Given the description of an element on the screen output the (x, y) to click on. 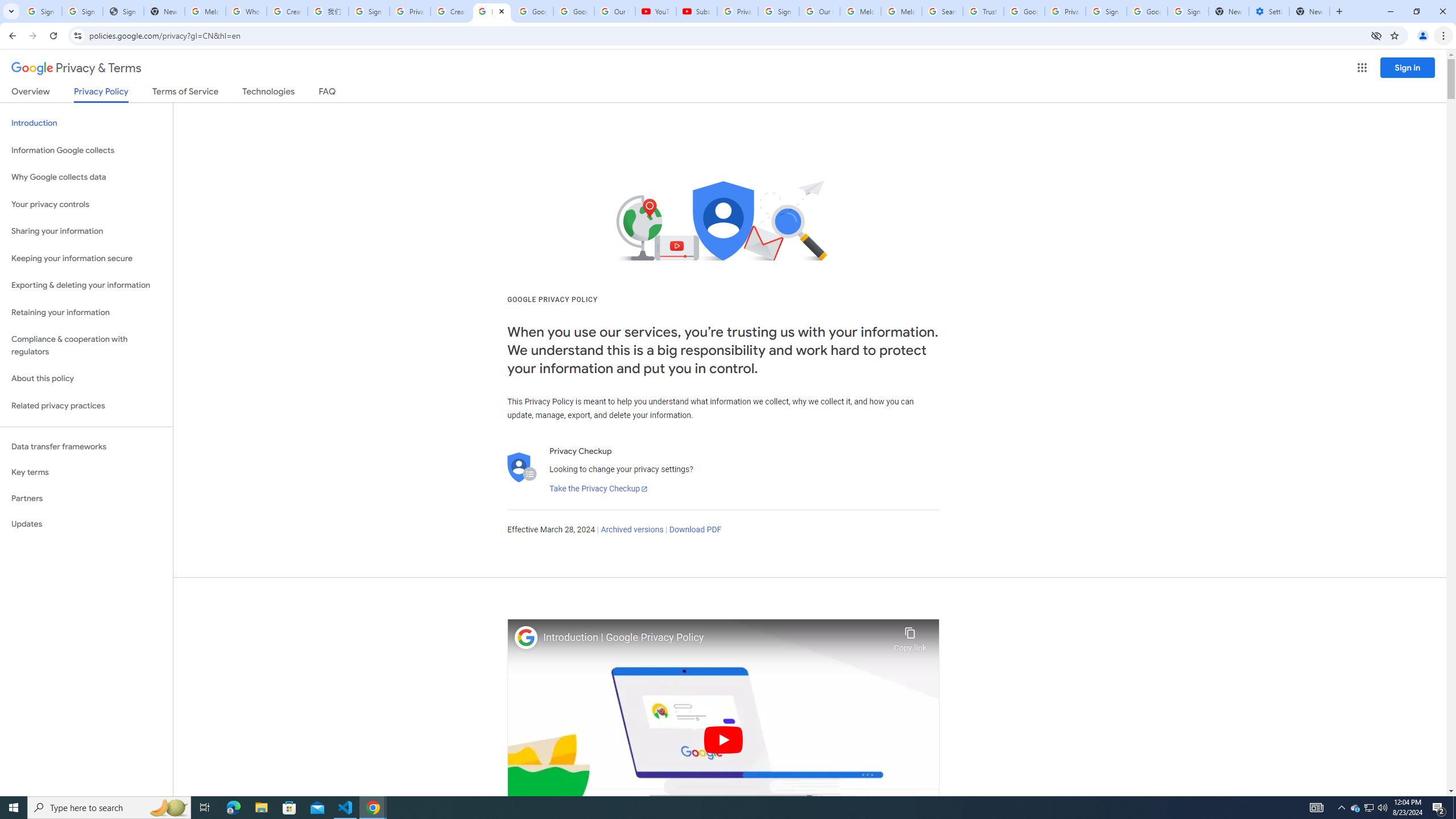
Sign in - Google Accounts (1105, 11)
Partners (86, 497)
Retaining your information (86, 312)
Archived versions (631, 529)
Technologies (268, 93)
Google Ads - Sign in (1023, 11)
Photo image of Google (526, 636)
FAQ (327, 93)
Sign in - Google Accounts (1187, 11)
Why Google collects data (86, 176)
Information Google collects (86, 150)
